Given the description of an element on the screen output the (x, y) to click on. 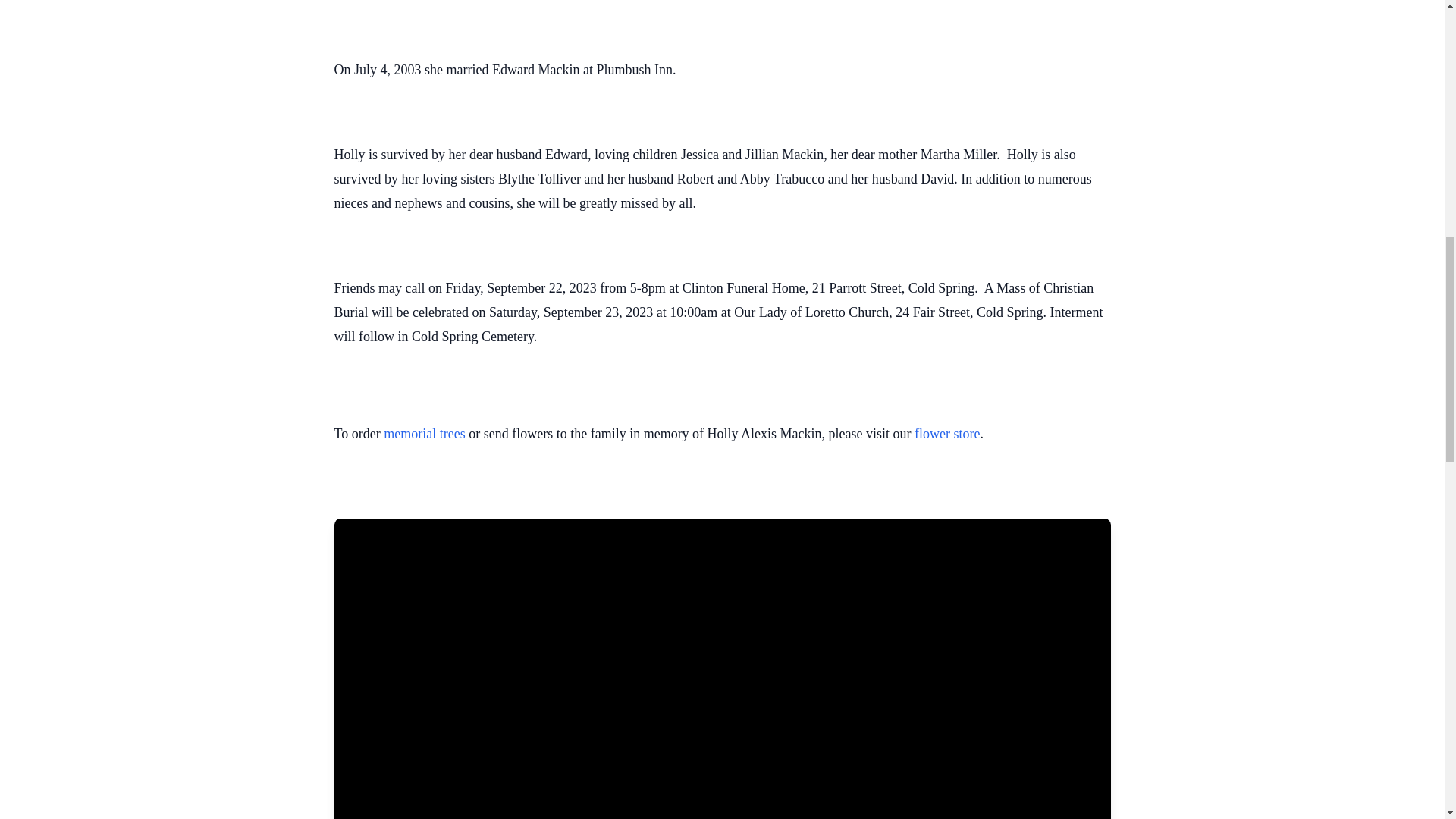
flower store (946, 433)
memorial trees (424, 433)
